Given the description of an element on the screen output the (x, y) to click on. 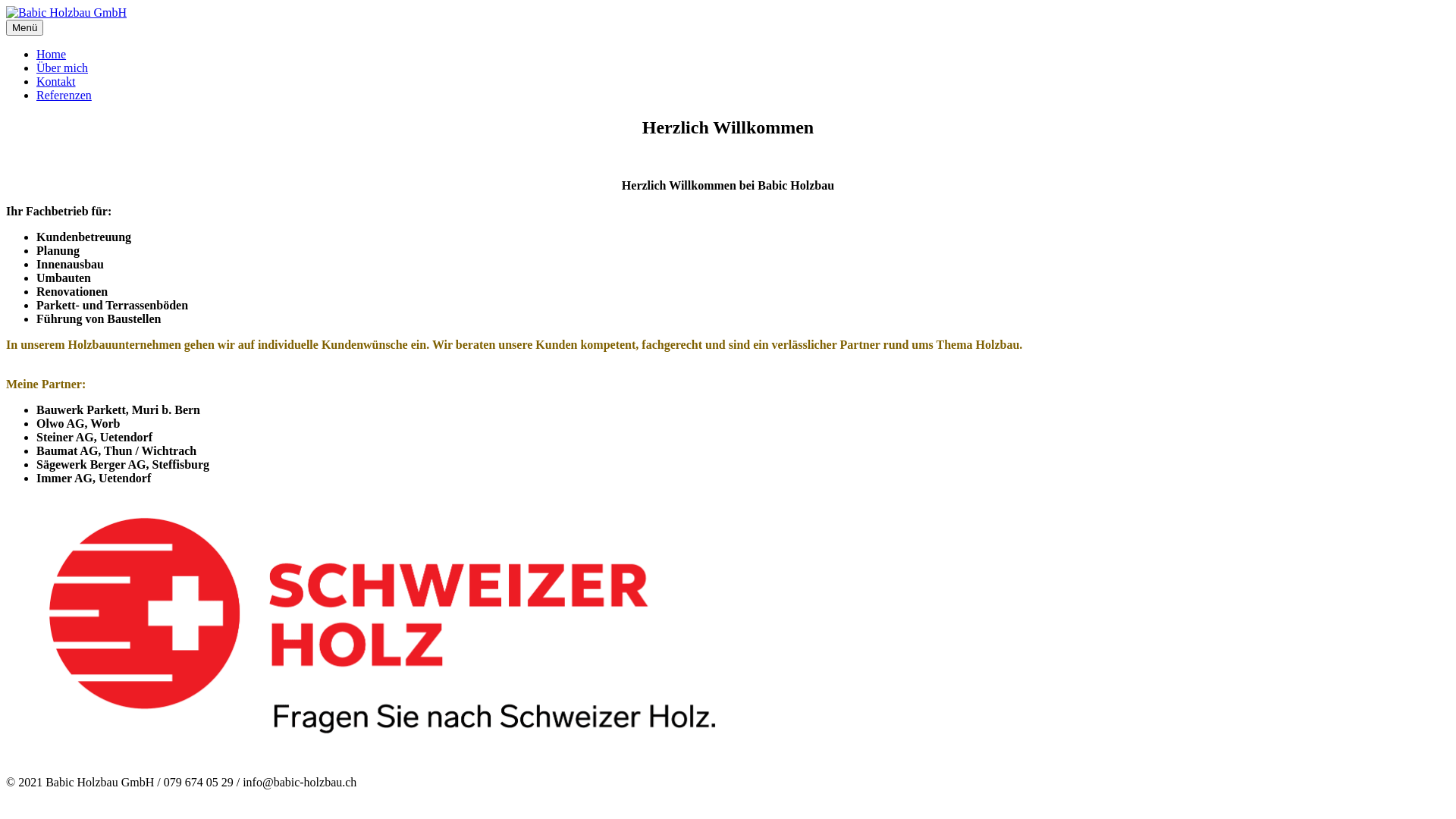
Home Element type: text (50, 53)
Referenzen Element type: text (63, 94)
Kontakt Element type: text (55, 81)
